Given the description of an element on the screen output the (x, y) to click on. 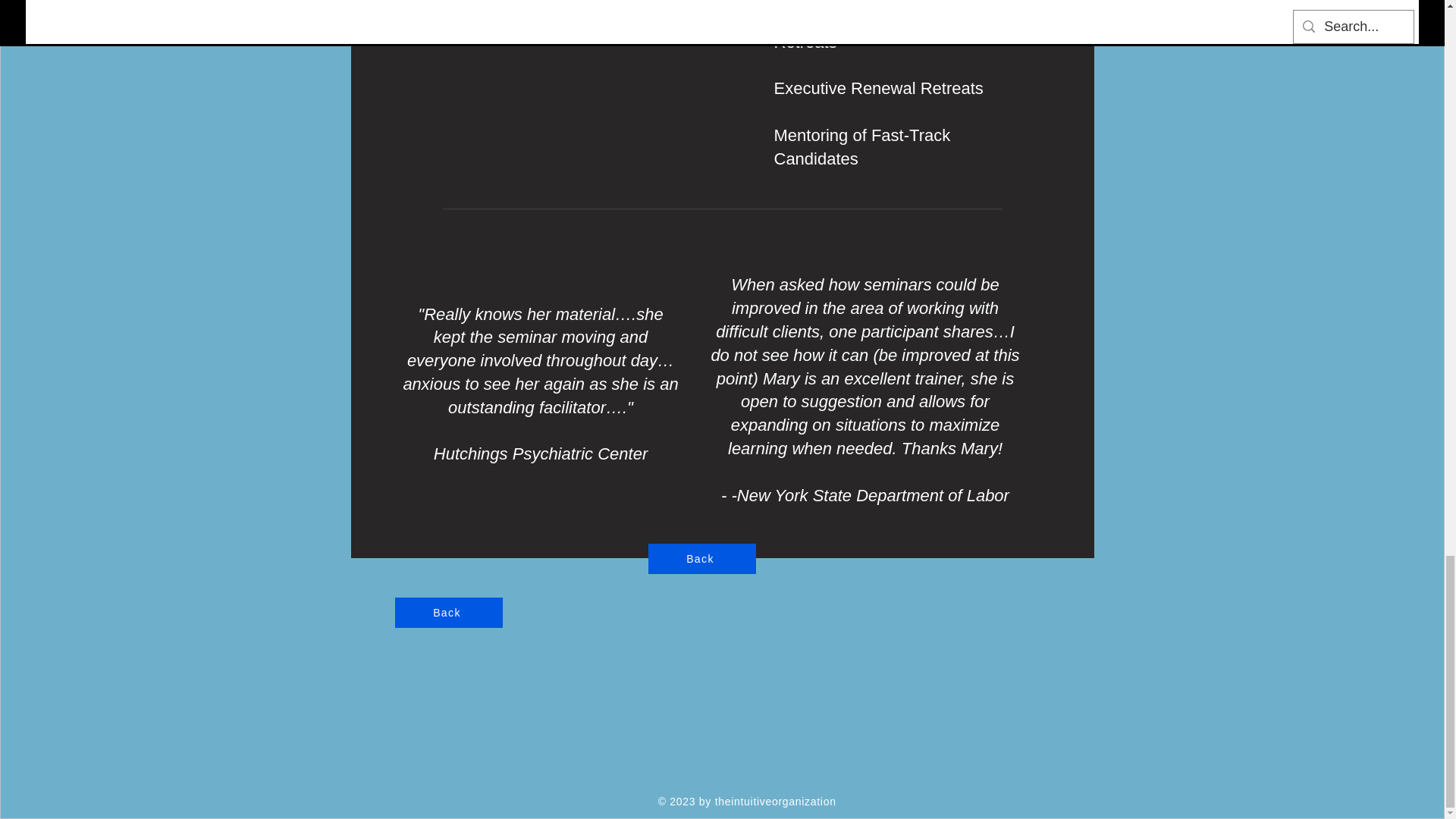
Back (448, 612)
Back (701, 558)
